Given the description of an element on the screen output the (x, y) to click on. 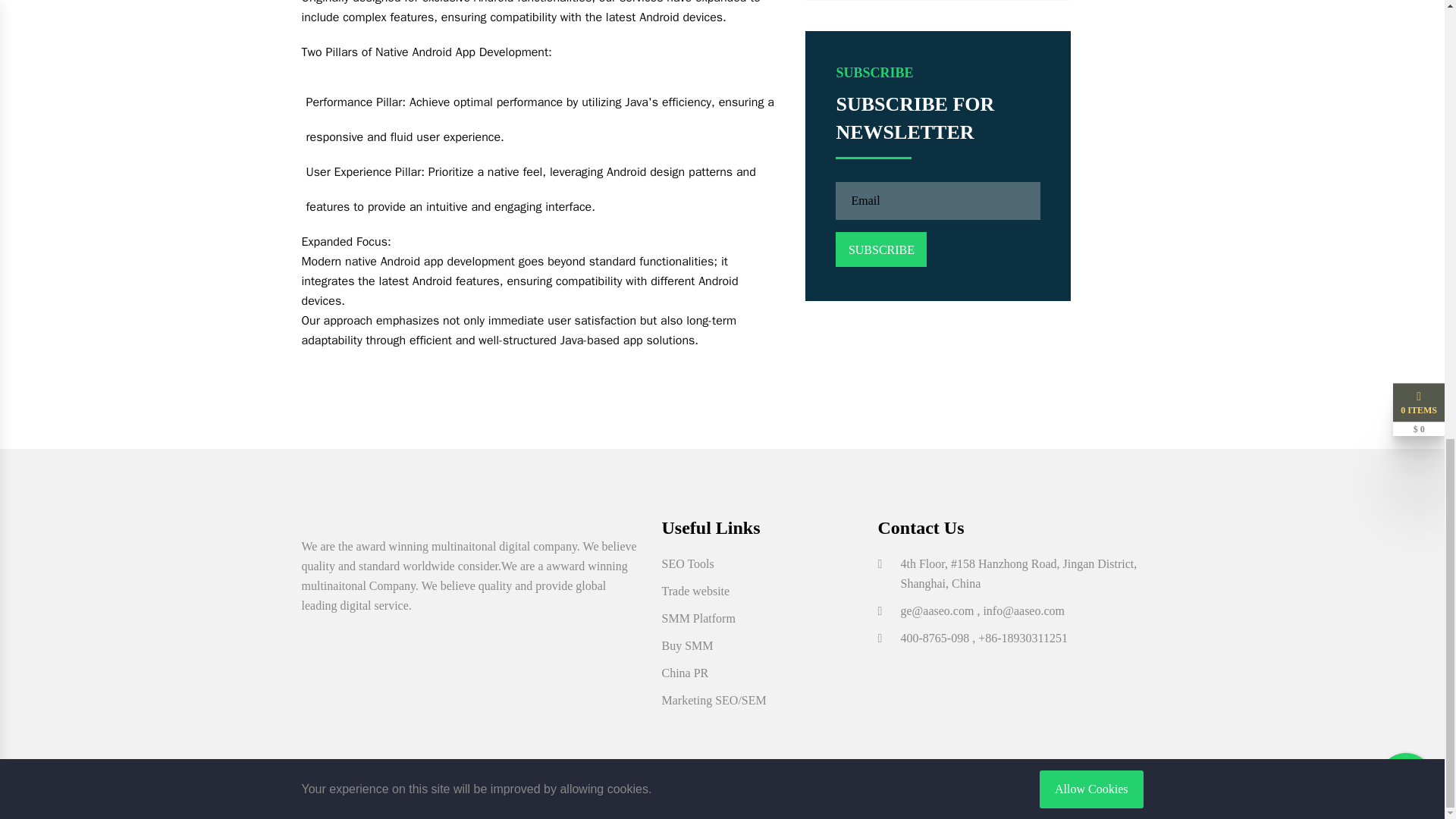
Subscribe (880, 248)
